Given the description of an element on the screen output the (x, y) to click on. 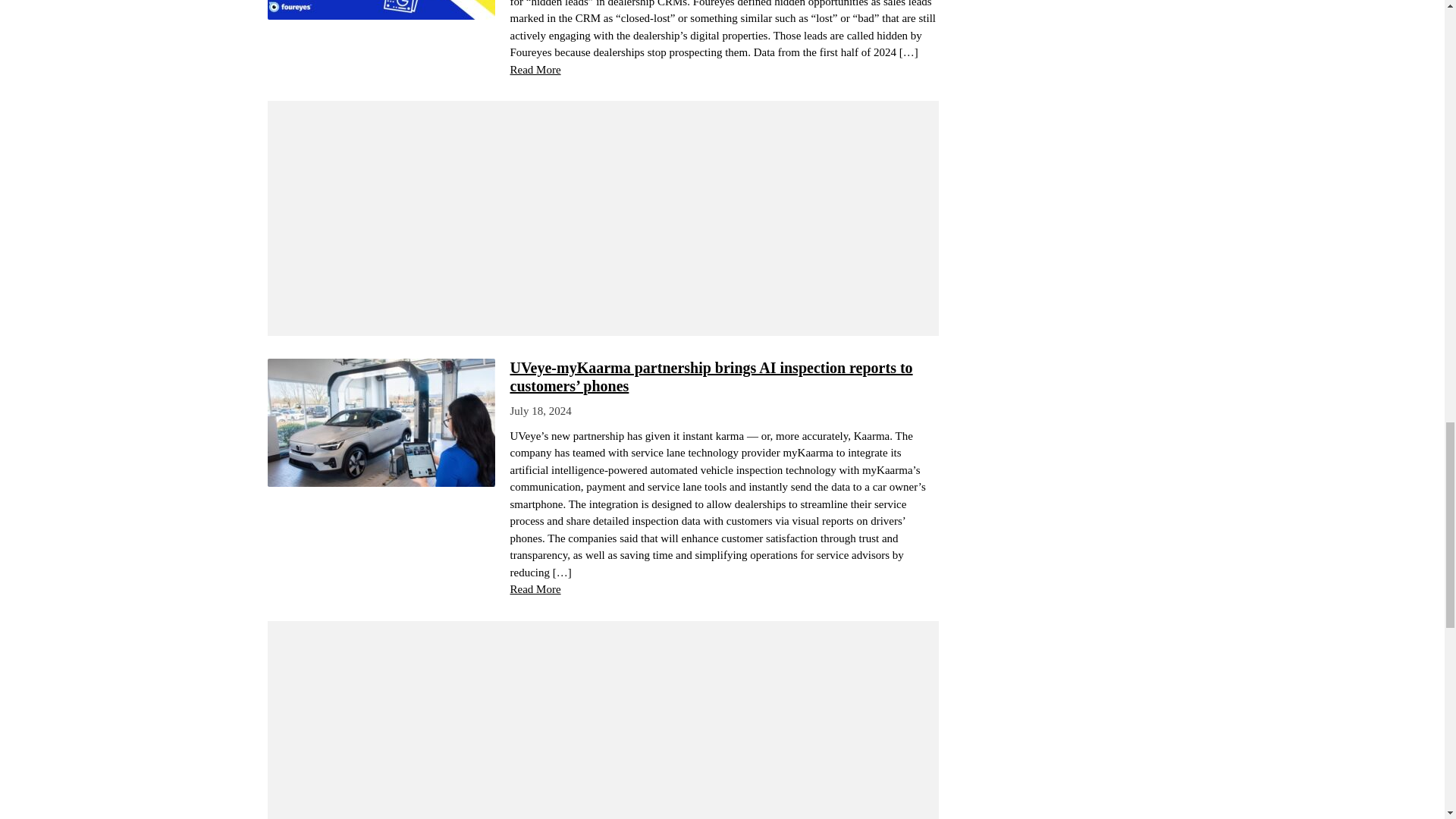
3rd party ad content (602, 730)
3rd party ad content (602, 217)
